Given the description of an element on the screen output the (x, y) to click on. 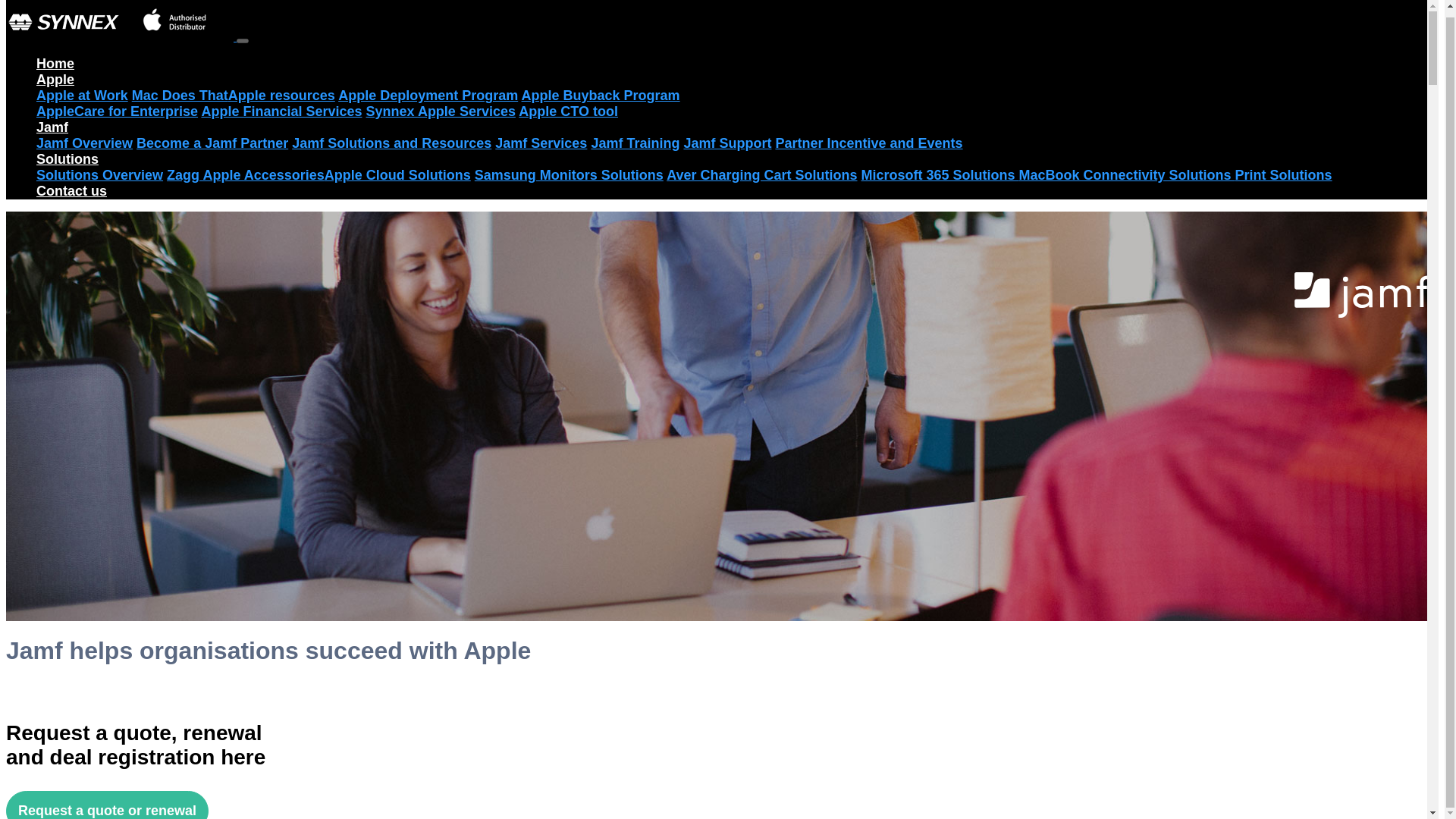
Apple Deployment Program (427, 95)
Jamf Support (726, 142)
Home (55, 63)
Samsung Monitors Solutions (568, 174)
Apple CTO tool (567, 111)
Zagg Apple Accessories (245, 174)
MacBook Connectivity Solutions (1126, 174)
Jamf Training (635, 142)
Microsoft 365 Solutions (940, 174)
Apple Buyback Program (600, 95)
